Given the description of an element on the screen output the (x, y) to click on. 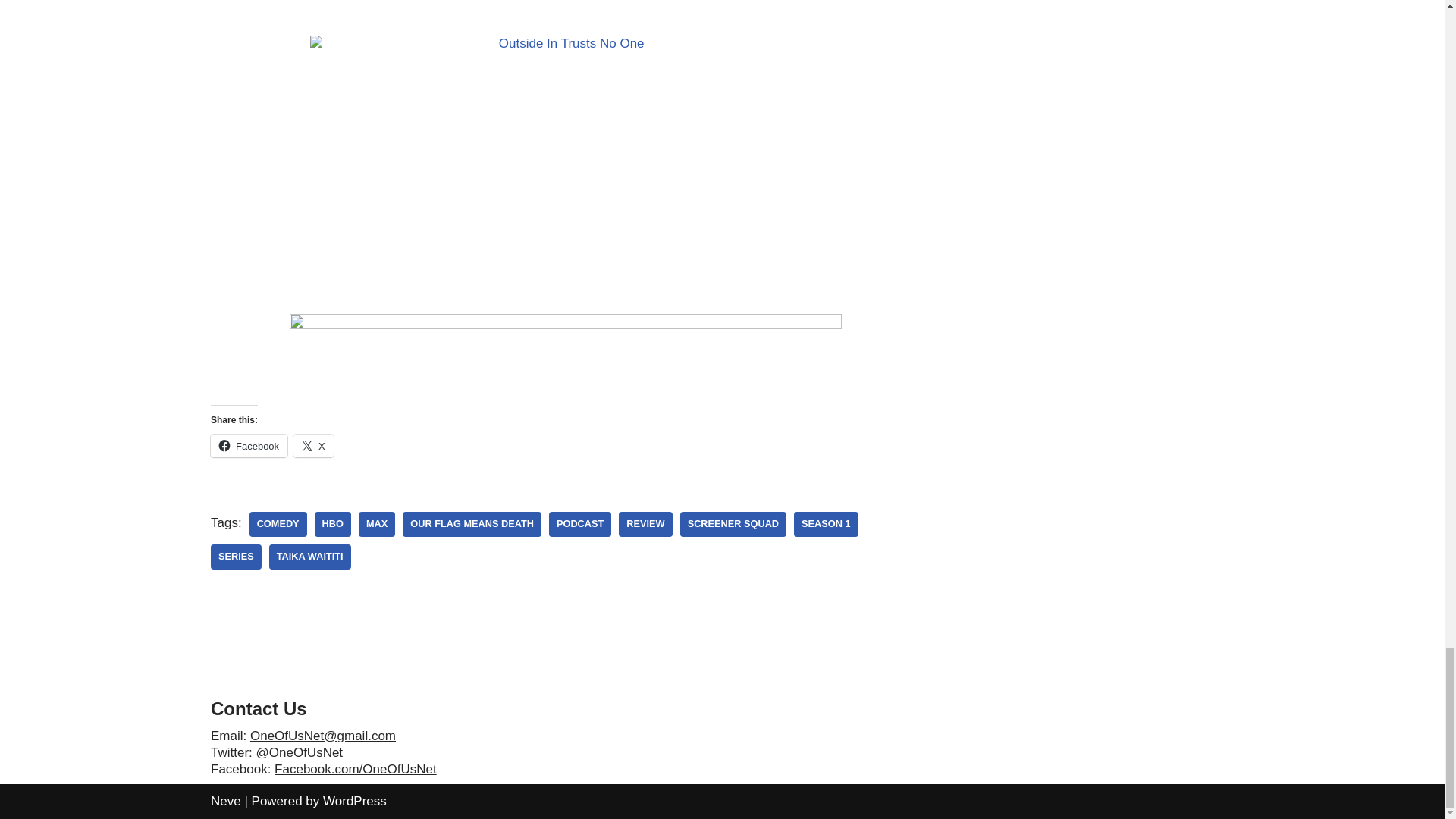
hbo (332, 524)
comedy (277, 524)
Click to share on Facebook (248, 445)
Click to share on X (313, 445)
